Given the description of an element on the screen output the (x, y) to click on. 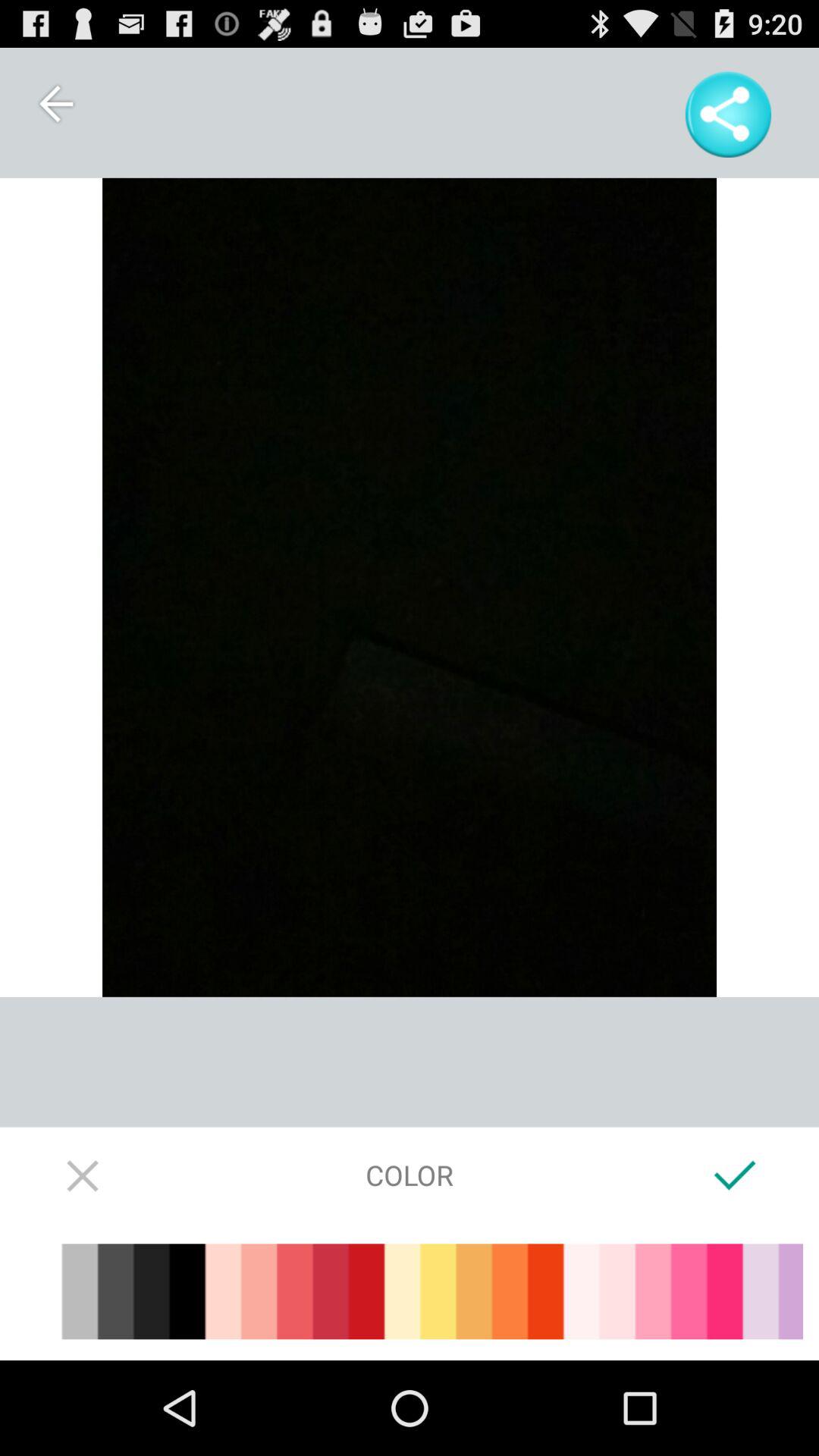
accept color choice (735, 1174)
